Given the description of an element on the screen output the (x, y) to click on. 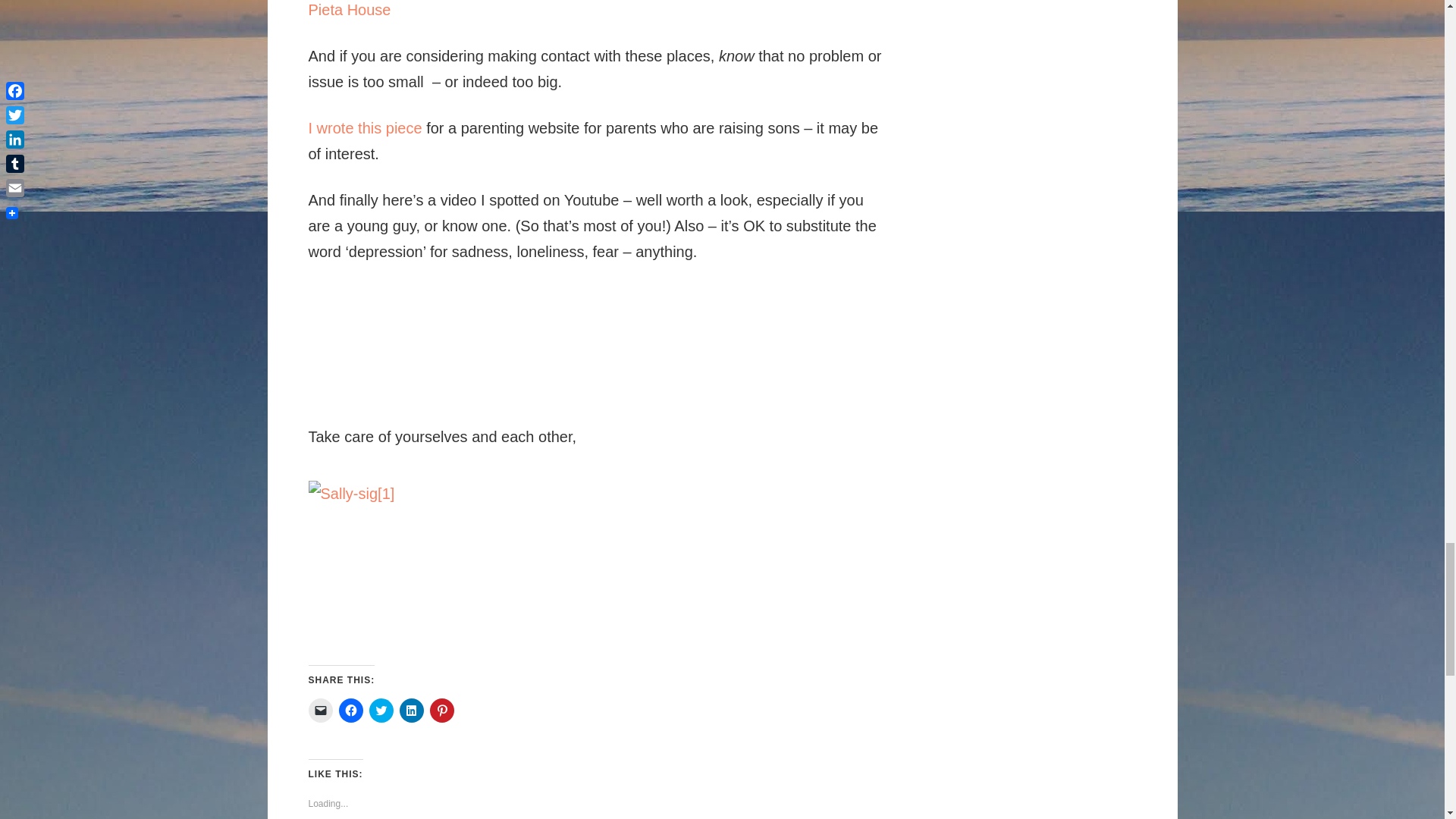
Click to share on LinkedIn (410, 710)
Click to share on Facebook (349, 710)
Click to email a link to a friend (319, 710)
Click to share on Twitter (380, 710)
Click to share on Pinterest (440, 710)
